Given the description of an element on the screen output the (x, y) to click on. 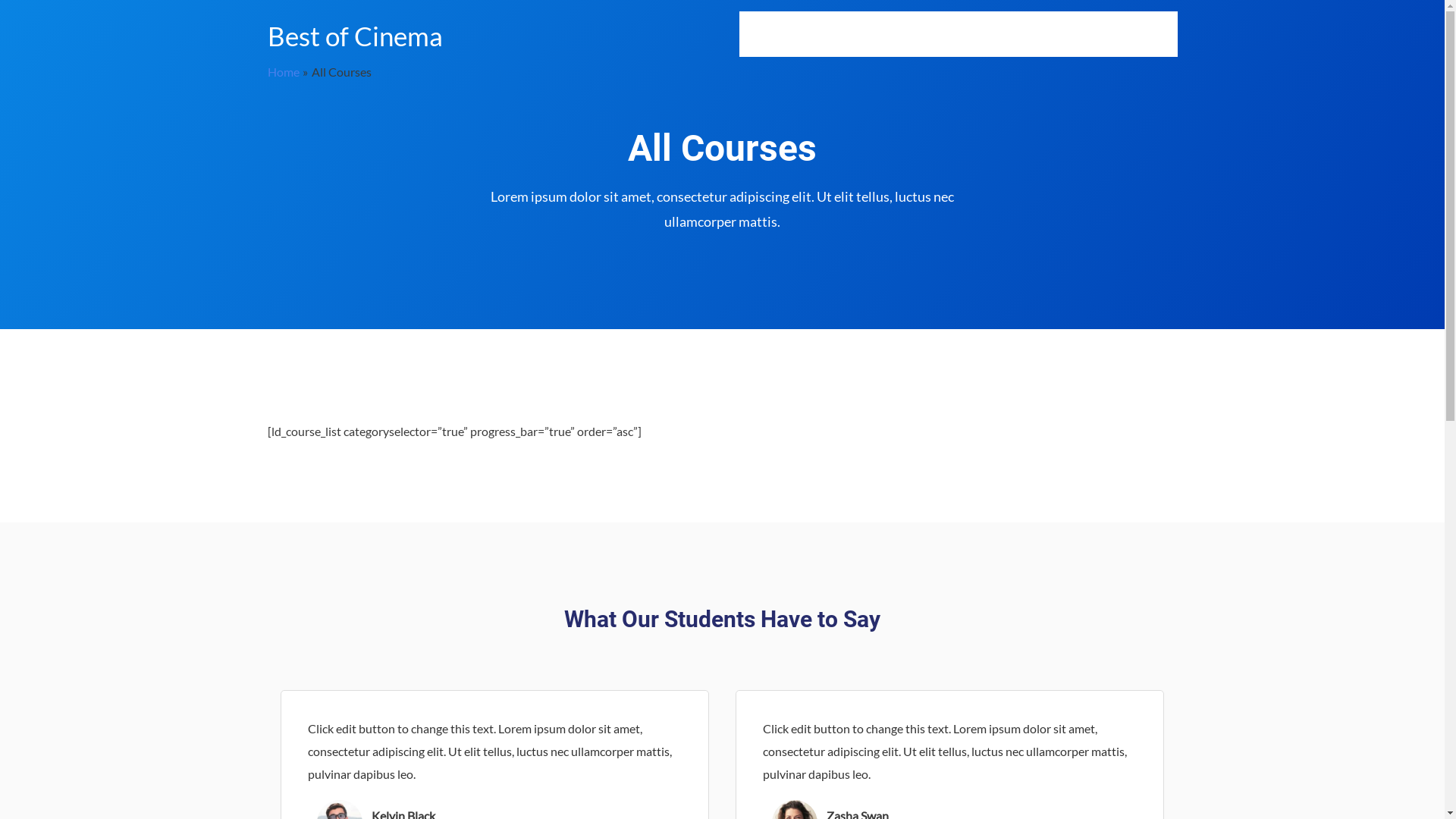
Cinema Best of Screen Element type: text (977, 33)
Edito Element type: text (1114, 33)
Jury Element type: text (1066, 33)
Best of Cinema Element type: text (354, 35)
Home Element type: text (282, 71)
Home Element type: text (764, 33)
Search Element type: text (1158, 33)
Cinema Experience Element type: text (850, 33)
